Given the description of an element on the screen output the (x, y) to click on. 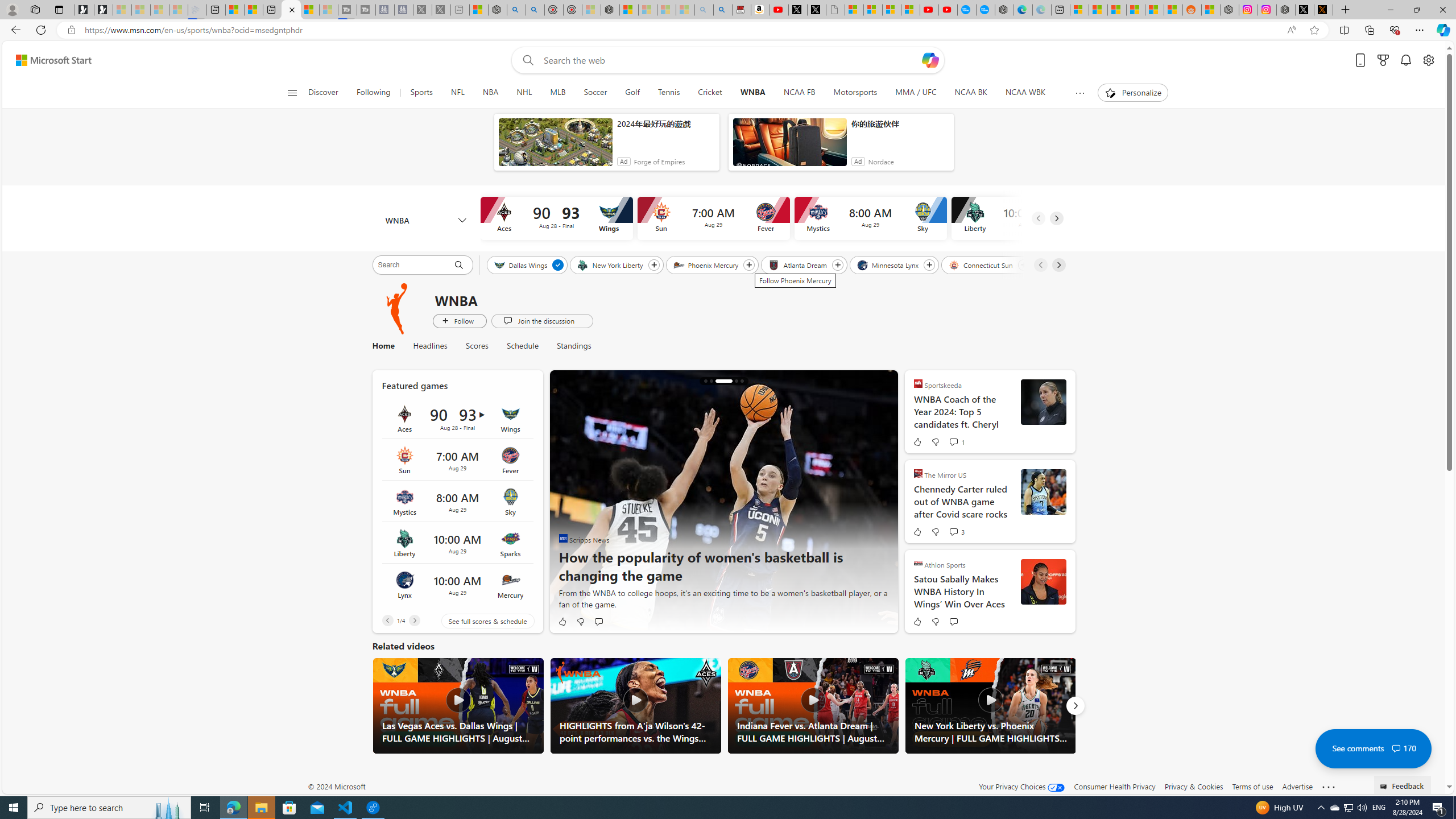
The Mirror US (917, 473)
Consumer Health Privacy (1115, 786)
Motorsports (855, 92)
Enter your search term (730, 59)
amazon - Search - Sleeping (703, 9)
Follow New York Liberty (653, 265)
Scores (477, 345)
Lynx vs Mercury Time 10:00 AM Date Aug 29 (456, 584)
